Given the description of an element on the screen output the (x, y) to click on. 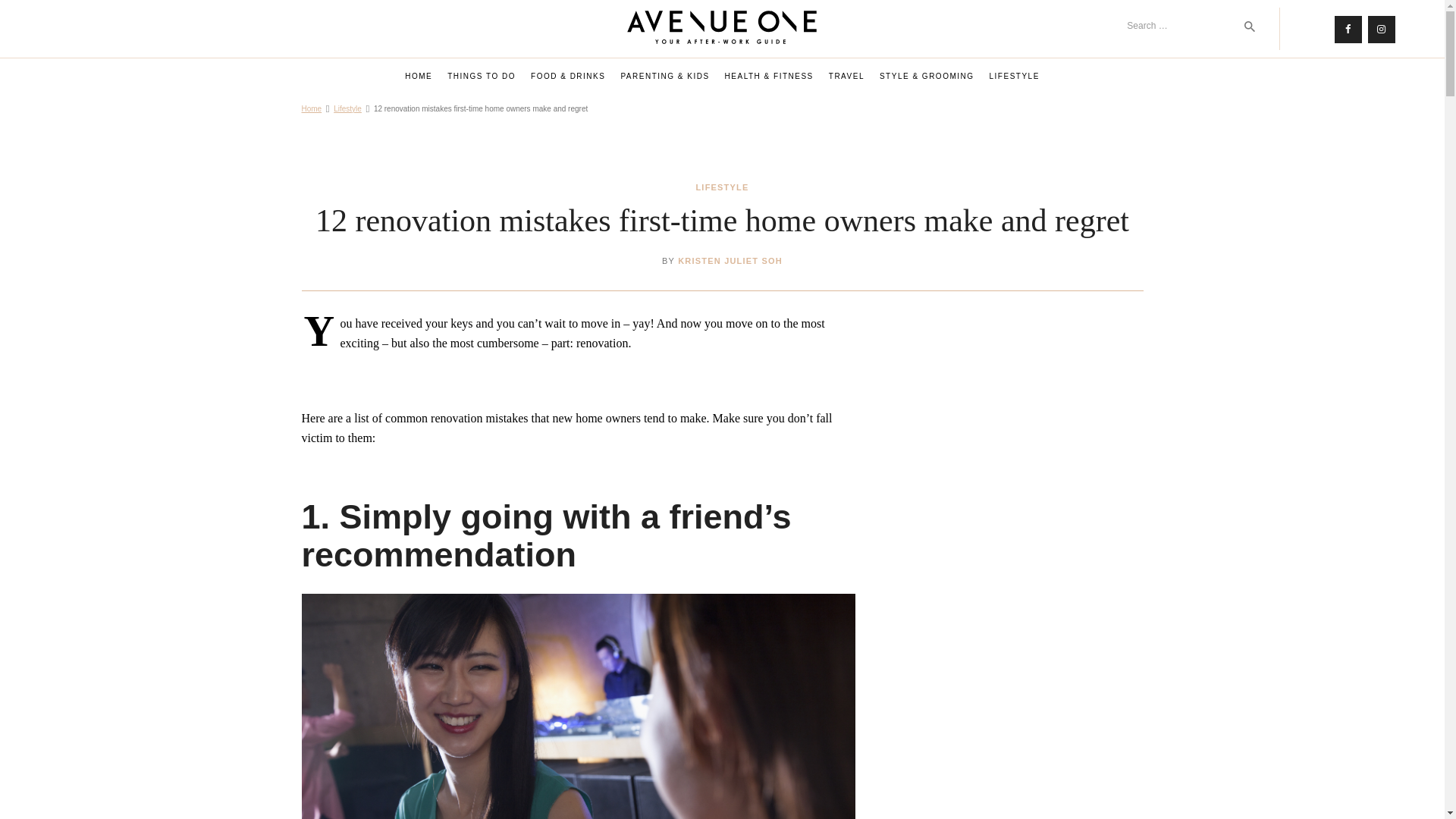
LIFESTYLE (1013, 76)
HOME (418, 76)
THINGS TO DO (480, 76)
TRAVEL (846, 76)
